Given the description of an element on the screen output the (x, y) to click on. 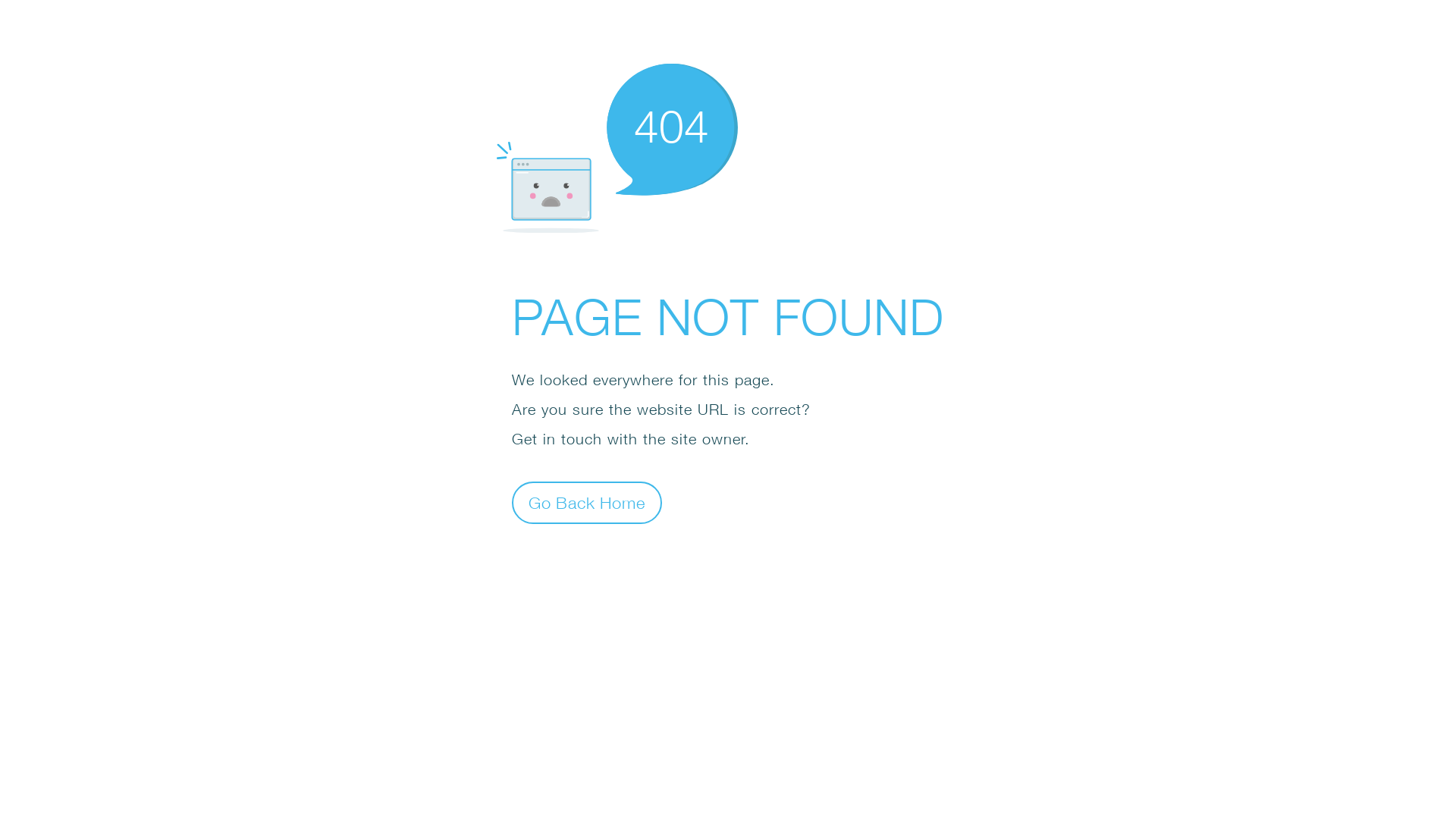
Go Back Home Element type: text (586, 502)
